Given the description of an element on the screen output the (x, y) to click on. 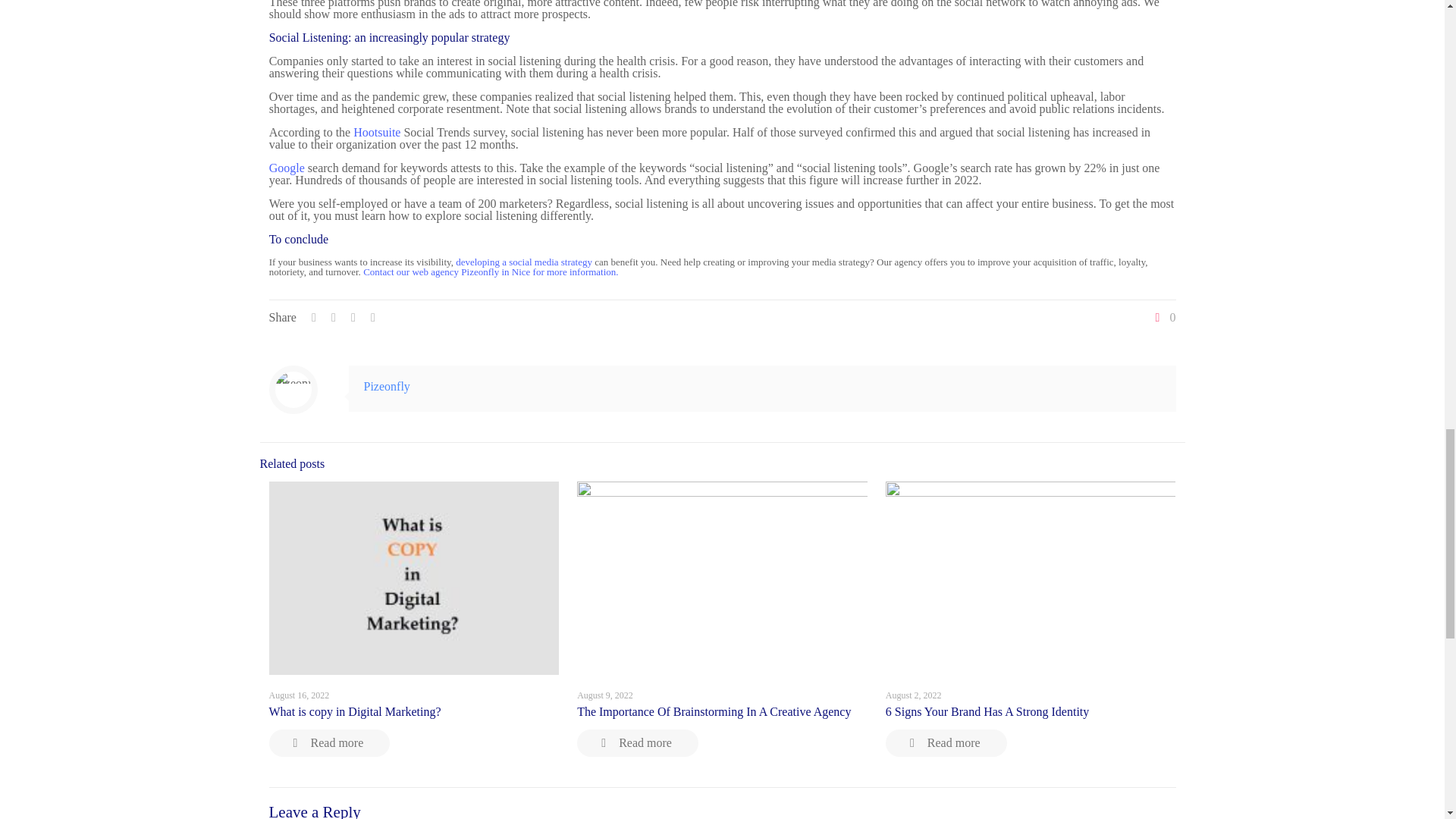
developing a social media strategy (523, 261)
Google (286, 167)
Hootsuite (376, 132)
